Given the description of an element on the screen output the (x, y) to click on. 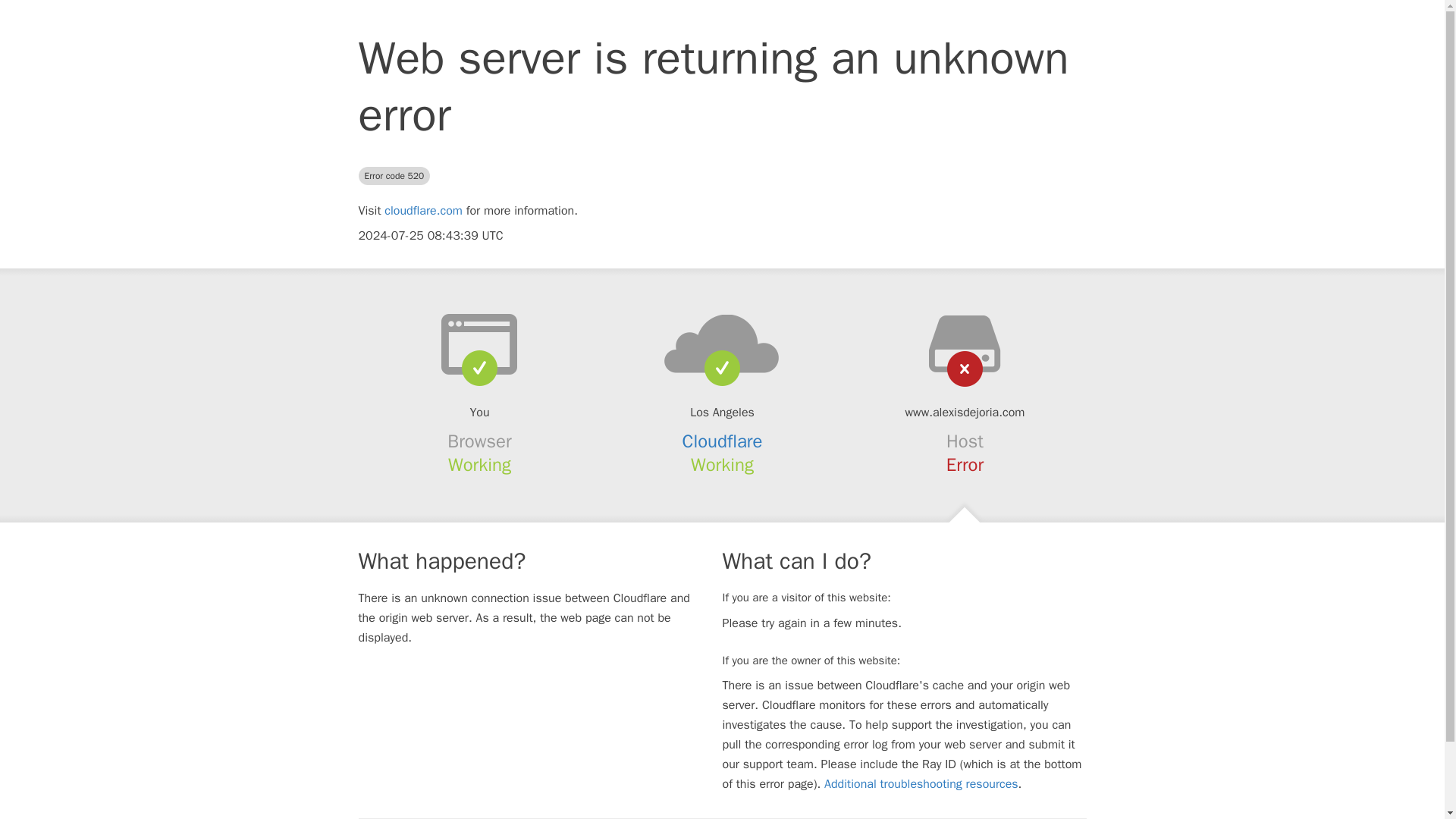
Additional troubleshooting resources (920, 783)
cloudflare.com (423, 210)
Cloudflare (722, 440)
